Given the description of an element on the screen output the (x, y) to click on. 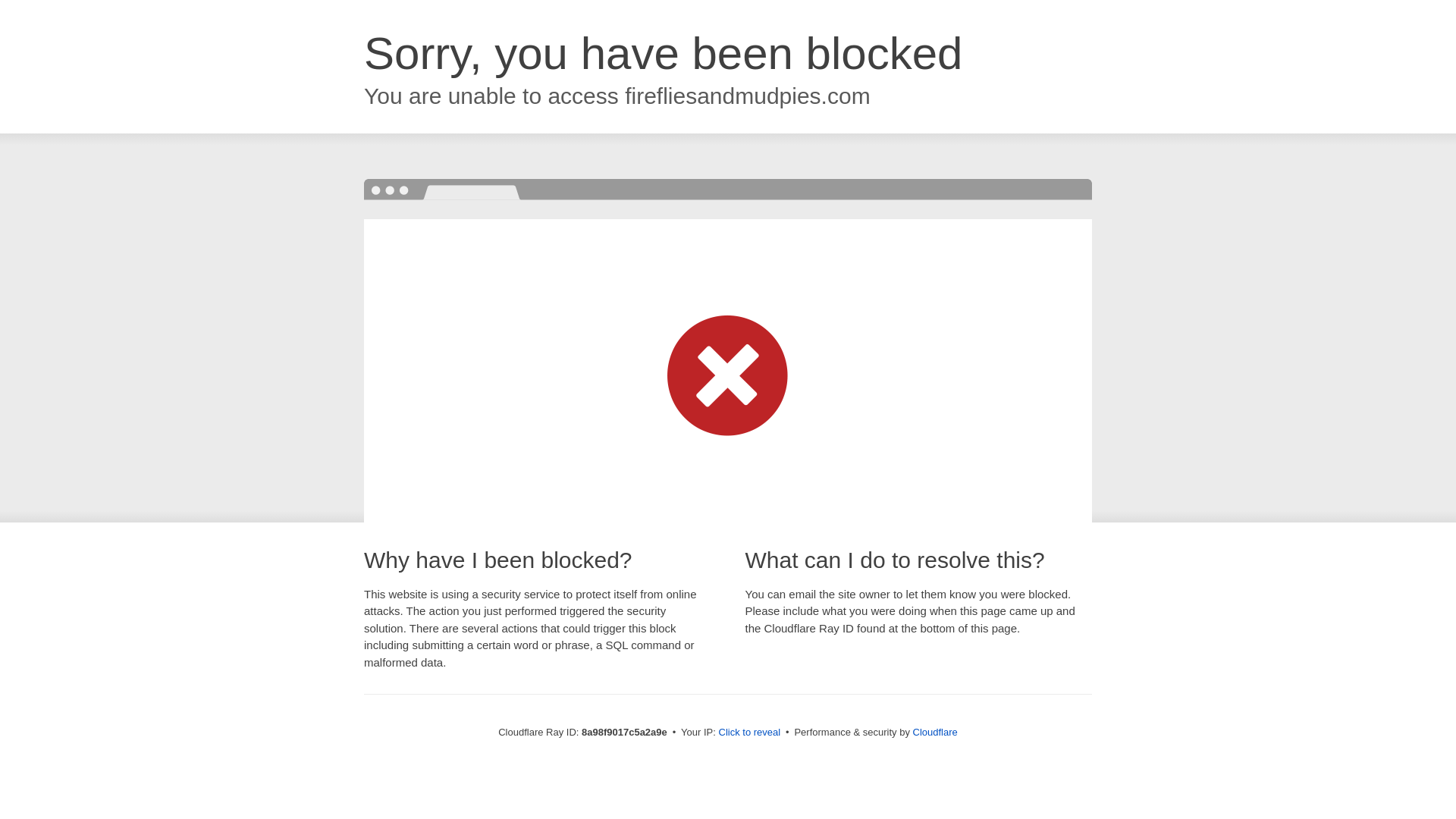
Click to reveal (749, 732)
Cloudflare (935, 731)
